Given the description of an element on the screen output the (x, y) to click on. 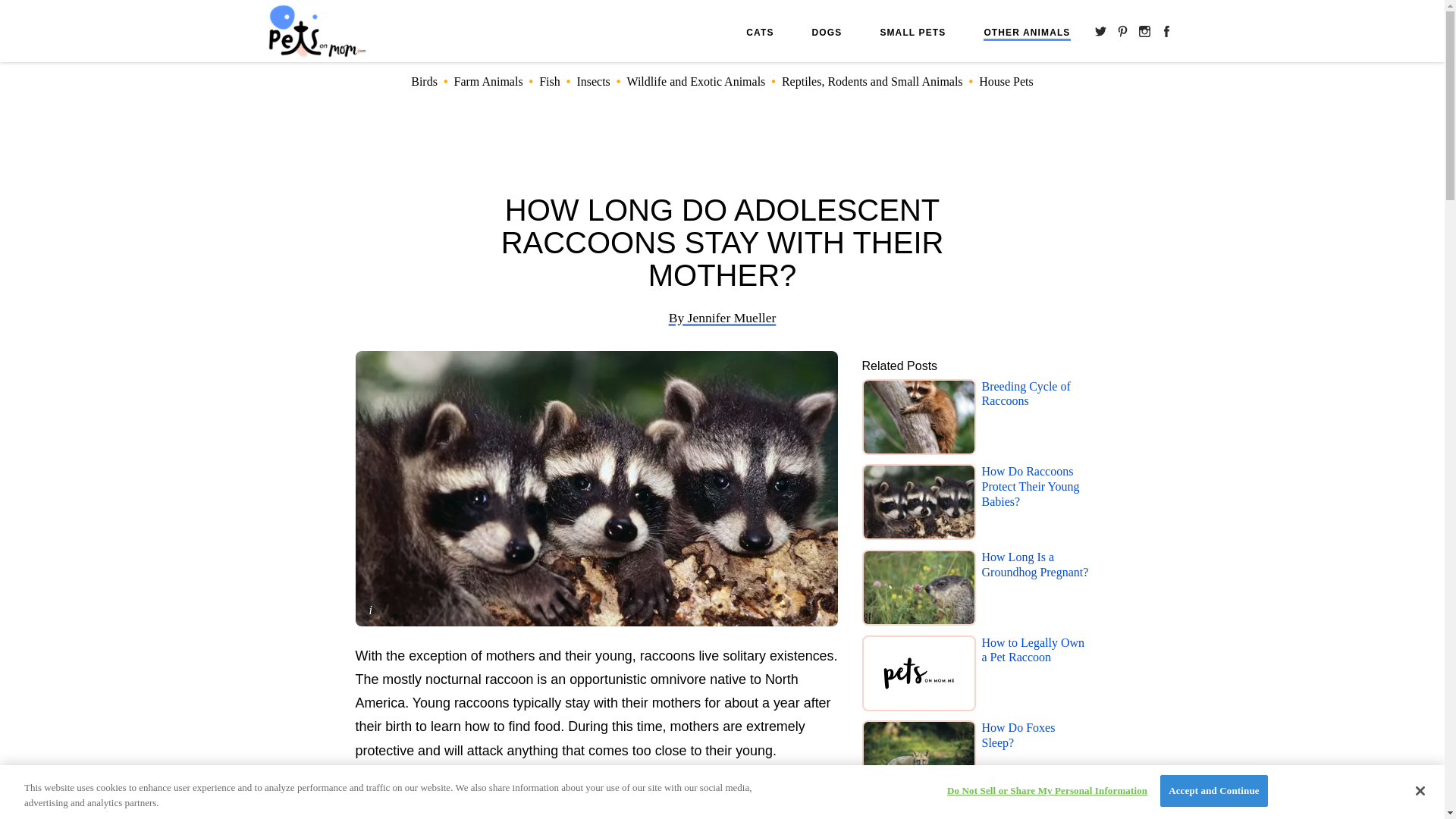
SMALL PETS (911, 32)
House Pets (1005, 81)
CATS (759, 32)
Farm Animals (487, 81)
Birds (424, 81)
Fish (549, 81)
Advertisement (596, 800)
OTHER ANIMALS (1027, 33)
DOGS (827, 32)
Reptiles, Rodents and Small Animals (871, 81)
Wildlife and Exotic Animals (695, 81)
Insects (593, 81)
